Given the description of an element on the screen output the (x, y) to click on. 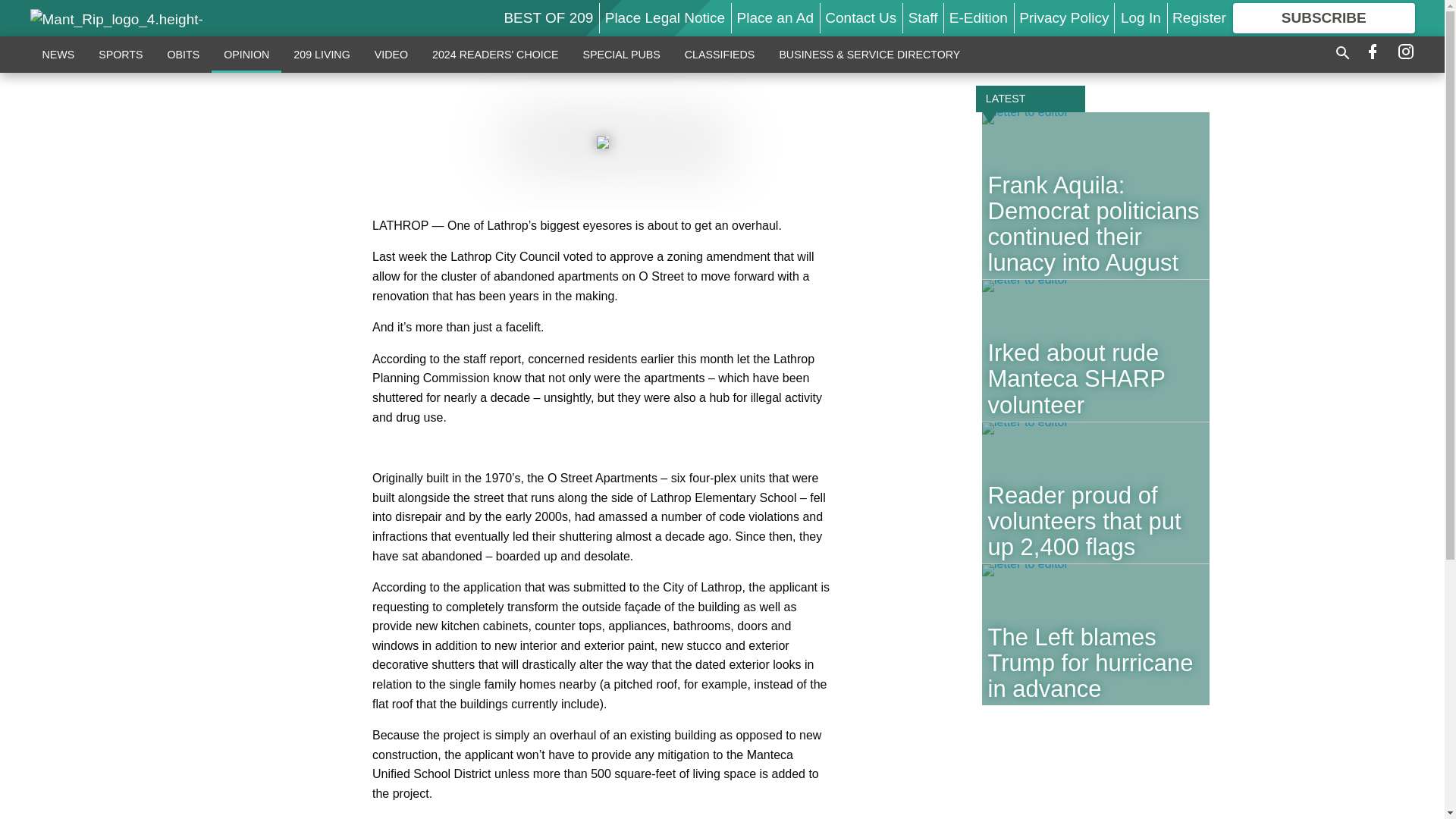
Privacy Policy (1063, 17)
Place Legal Notice (665, 17)
Log In (1140, 17)
Staff (922, 17)
SUBSCRIBE (1324, 18)
Place an Ad (774, 17)
BEST OF 209 (547, 17)
Contact Us (860, 17)
E-Edition (978, 17)
Register (1198, 17)
